Given the description of an element on the screen output the (x, y) to click on. 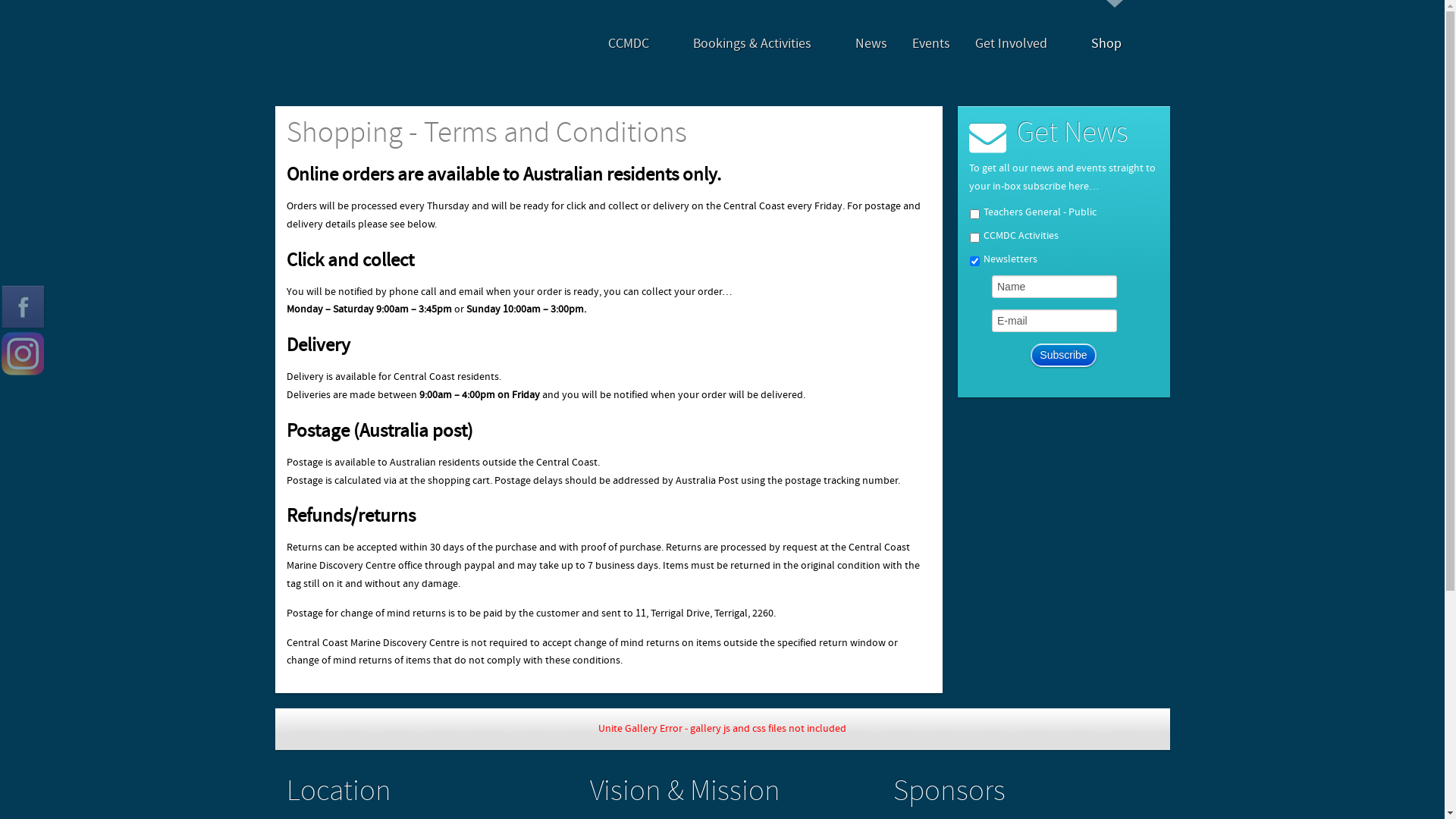
Shopping - Terms and Conditions Element type: text (486, 133)
Shop Element type: text (1114, 43)
News Element type: text (871, 43)
Get Involved Element type: text (1020, 43)
Bookings & Activities Element type: text (761, 43)
Subscribe Element type: text (1062, 355)
Name Element type: hover (1054, 286)
CCMDC Element type: text (638, 43)
Events Element type: text (930, 43)
E-mail Element type: hover (1054, 320)
